Given the description of an element on the screen output the (x, y) to click on. 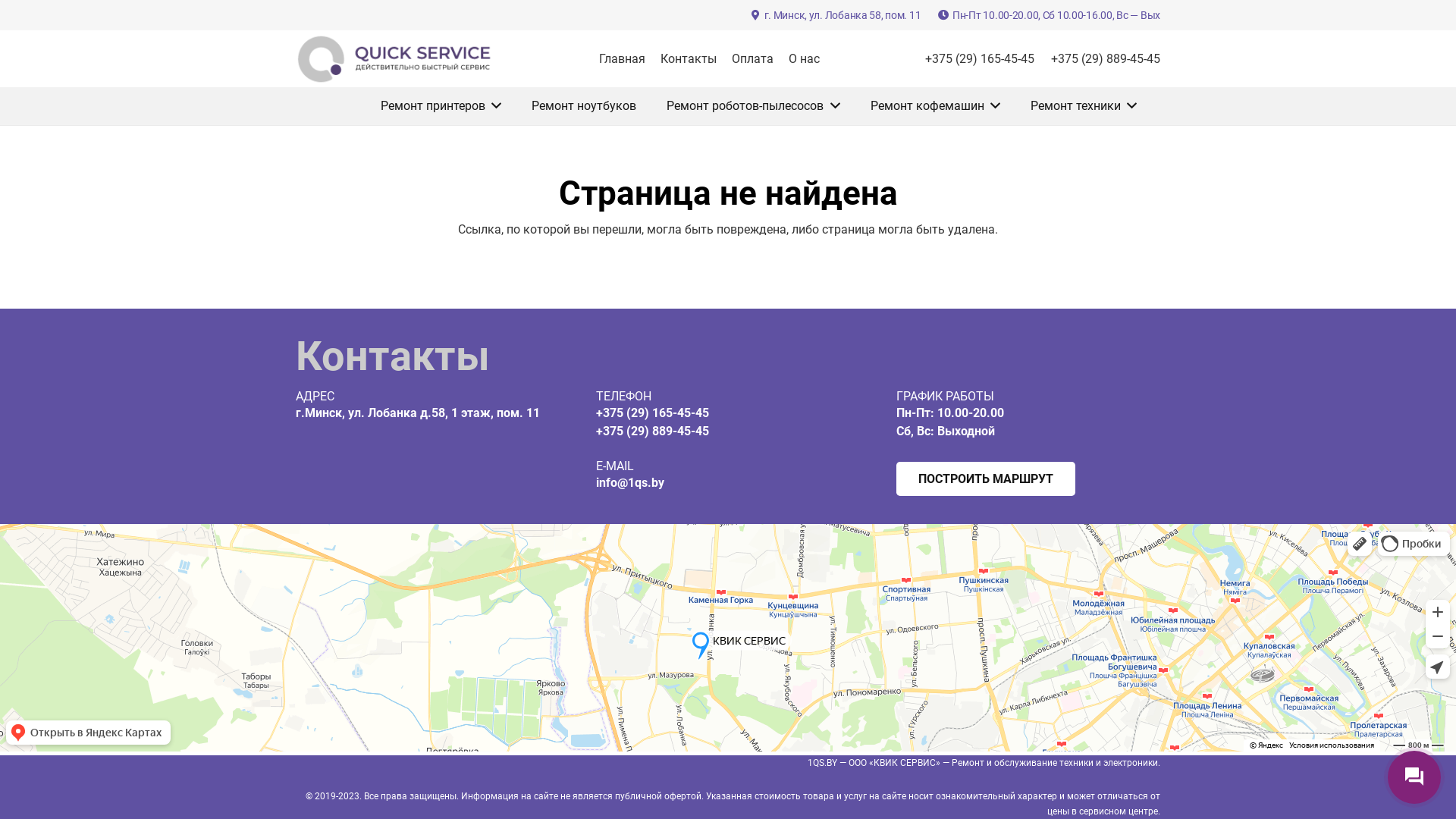
+375 (29) 165-45-45 Element type: text (652, 412)
+375 (29) 889-45-45 Element type: text (1105, 58)
info@1qs.by Element type: text (630, 482)
+375 (29) 165-45-45 Element type: text (979, 58)
+375 (29) 889-45-45 Element type: text (652, 430)
